Given the description of an element on the screen output the (x, y) to click on. 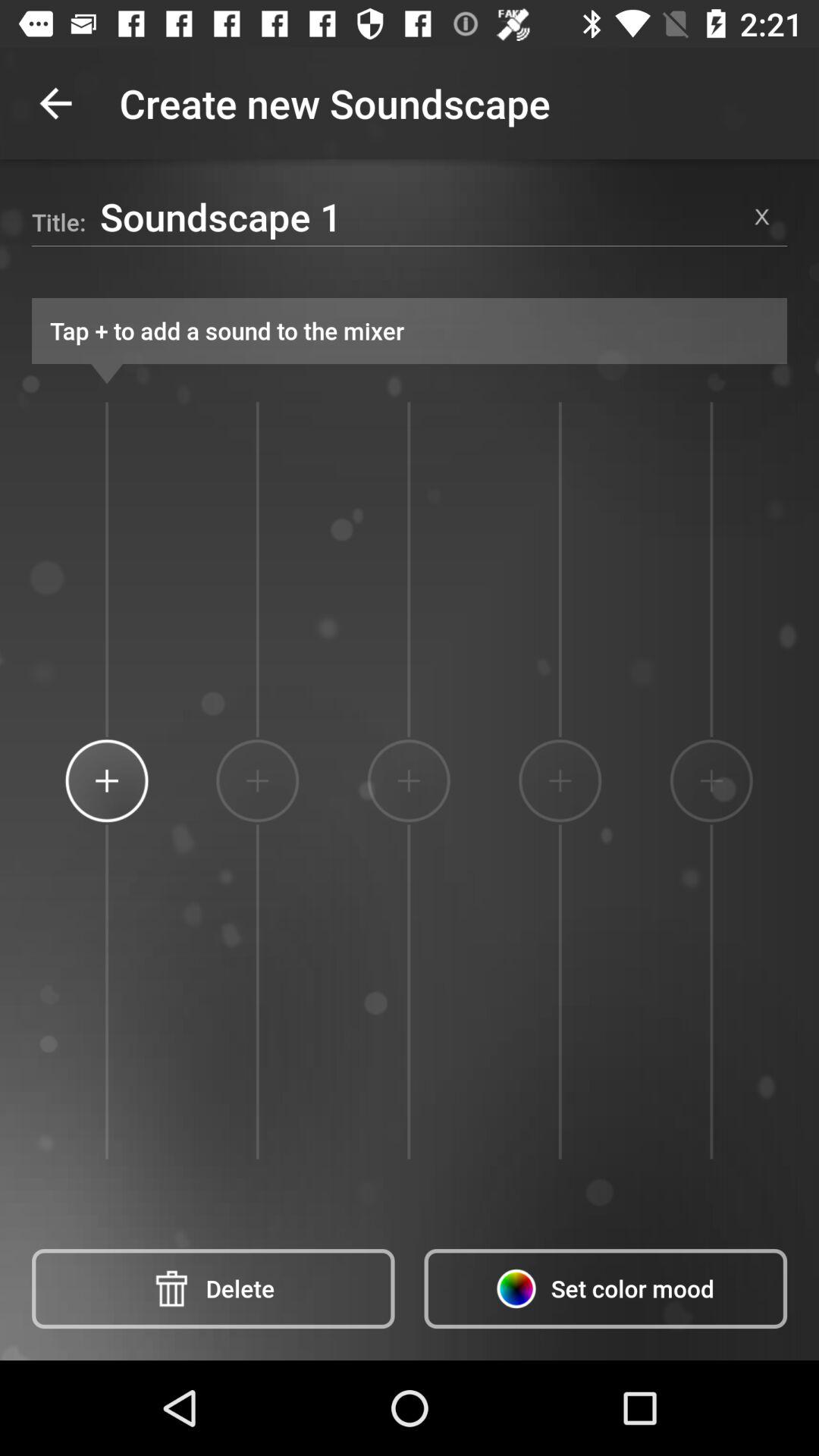
click item above the set color mood icon (711, 780)
